Given the description of an element on the screen output the (x, y) to click on. 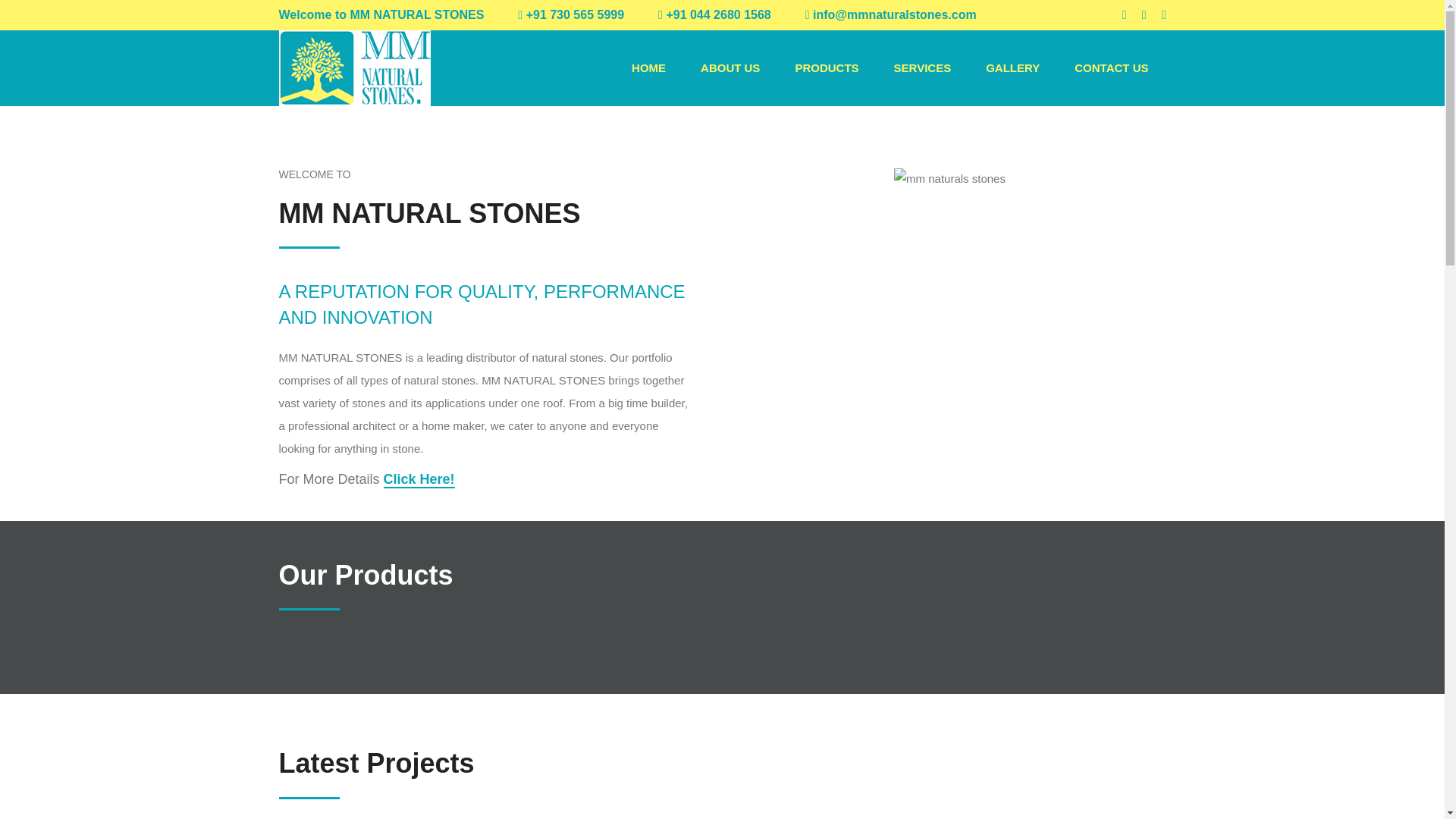
HOME (648, 67)
GALLERY (1012, 67)
SERVICES (922, 67)
CONTACT US (1111, 67)
ABOUT US (730, 67)
PRODUCTS (826, 67)
